Given the description of an element on the screen output the (x, y) to click on. 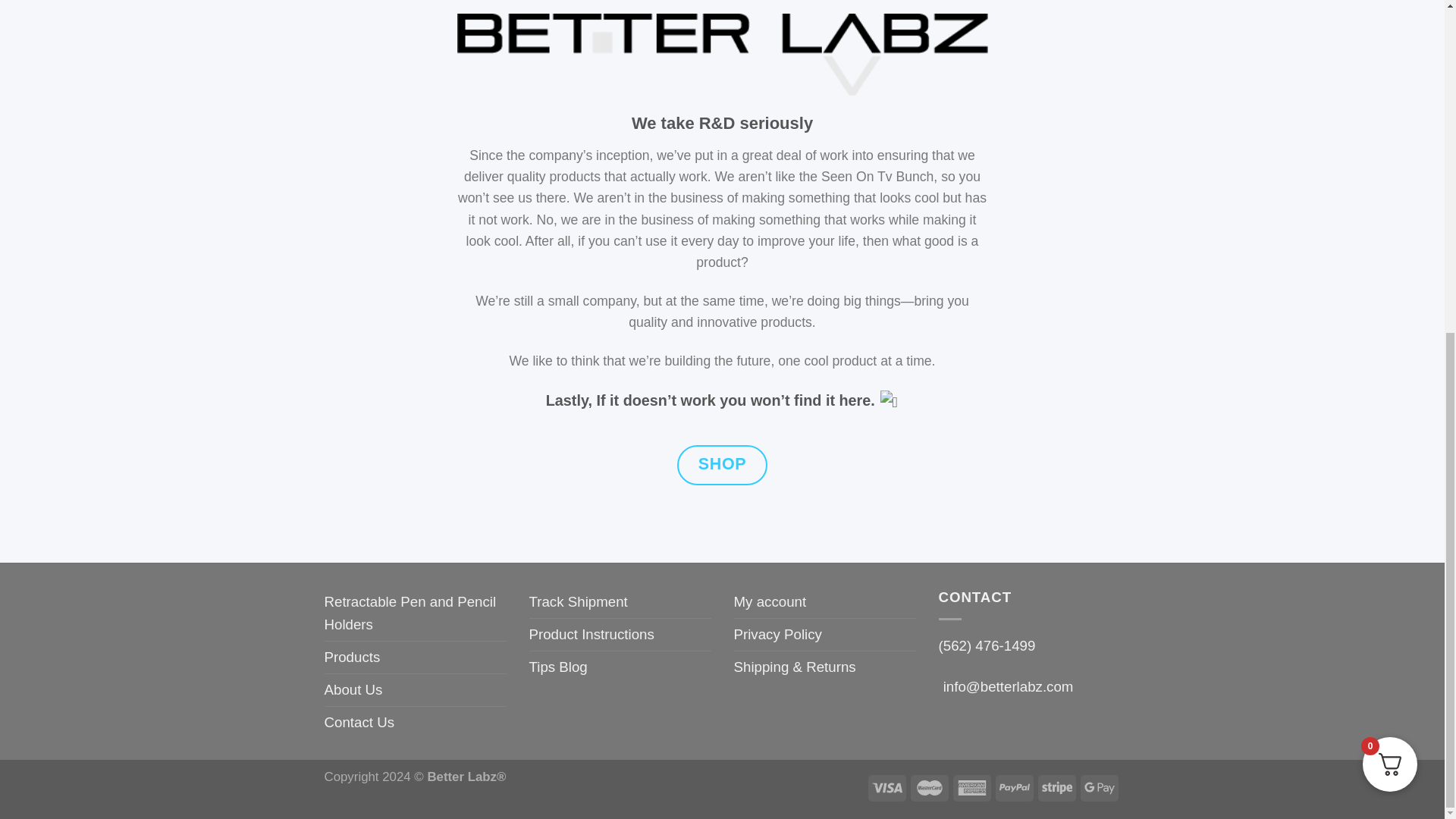
Privacy Policy (777, 634)
About Us (353, 689)
Tips Blog (558, 667)
Product Instructions (591, 634)
Products (352, 657)
Track Shipment (578, 602)
Retractable Pen and Pencil Holders (415, 613)
My account (769, 602)
Contact Us (359, 722)
SHOP (722, 465)
